Given the description of an element on the screen output the (x, y) to click on. 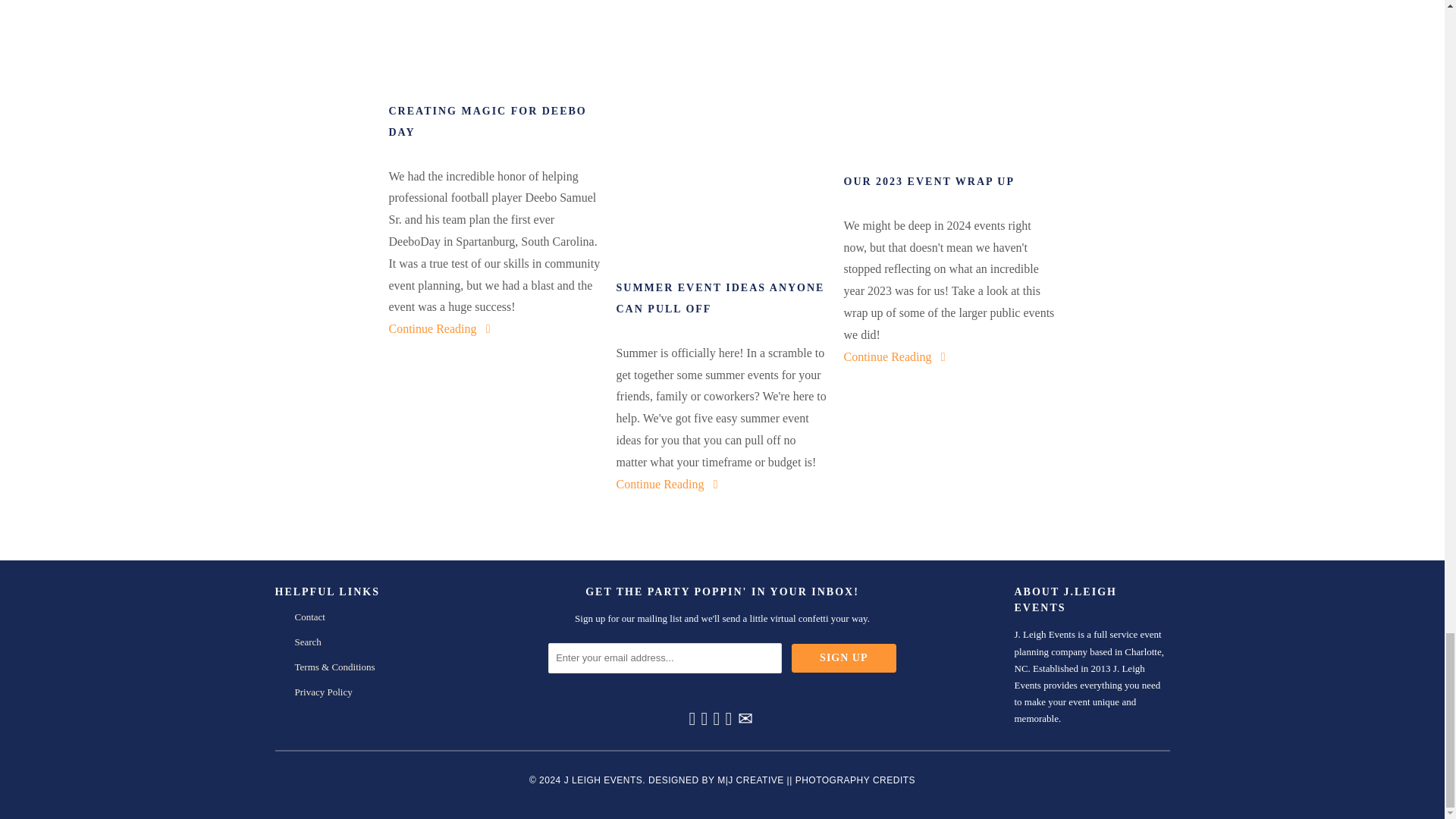
Creating Magic for Deebo Day (493, 44)
CREATING MAGIC FOR DEEBO DAY (493, 121)
Our 2023 Event Wrap Up (949, 79)
Summer Event Ideas Anyone Can Pull Off (721, 298)
Continue Reading (667, 483)
Creating Magic for Deebo Day (493, 121)
Creating Magic for Deebo Day (440, 328)
SUMMER EVENT IDEAS ANYONE CAN PULL OFF (721, 298)
Continue Reading (440, 328)
Summer Event Ideas Anyone Can Pull Off (667, 483)
